Given the description of an element on the screen output the (x, y) to click on. 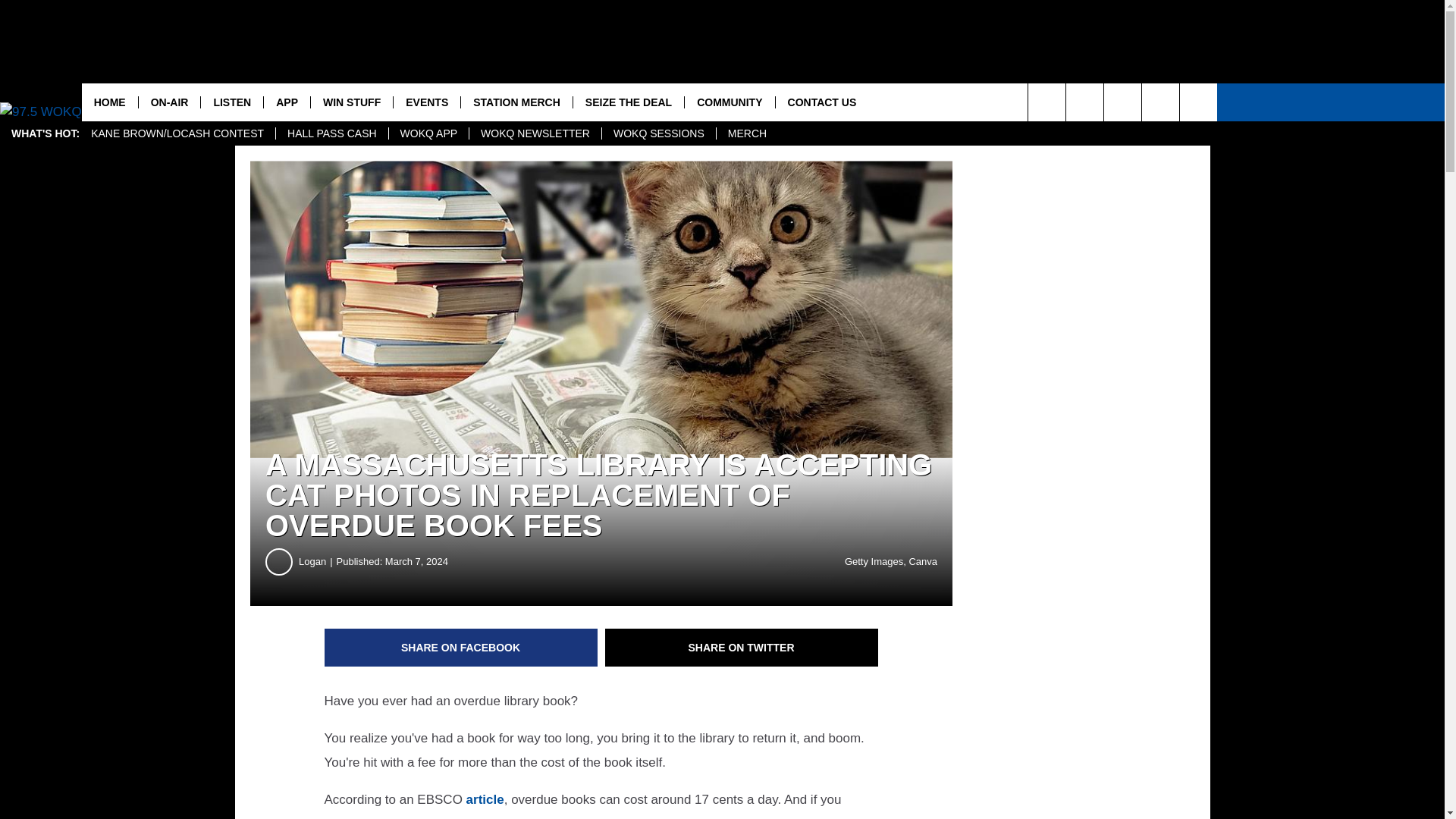
ON-AIR (169, 102)
Share on Facebook (460, 647)
HOME (109, 102)
Share on Twitter (741, 647)
SEIZE THE DEAL (628, 102)
APP (286, 102)
WOKQ SESSIONS (658, 133)
STATION MERCH (516, 102)
CONTACT US (821, 102)
WOKQ APP (428, 133)
MERCH (746, 133)
EVENTS (426, 102)
WIN STUFF (351, 102)
WOKQ NEWSLETTER (534, 133)
LISTEN (231, 102)
